Given the description of an element on the screen output the (x, y) to click on. 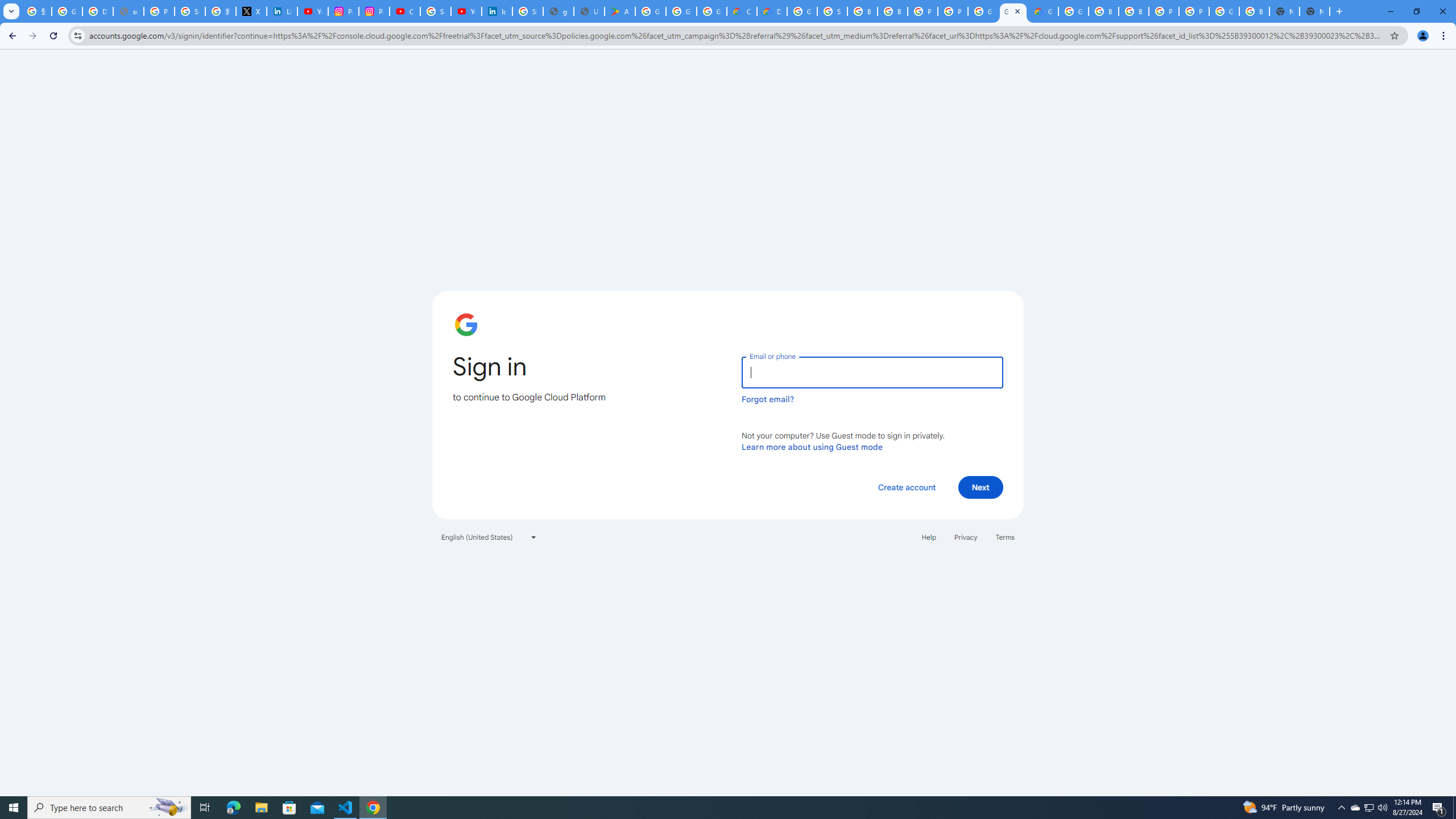
Create account (905, 486)
Learn more about using Guest mode (812, 446)
